Given the description of an element on the screen output the (x, y) to click on. 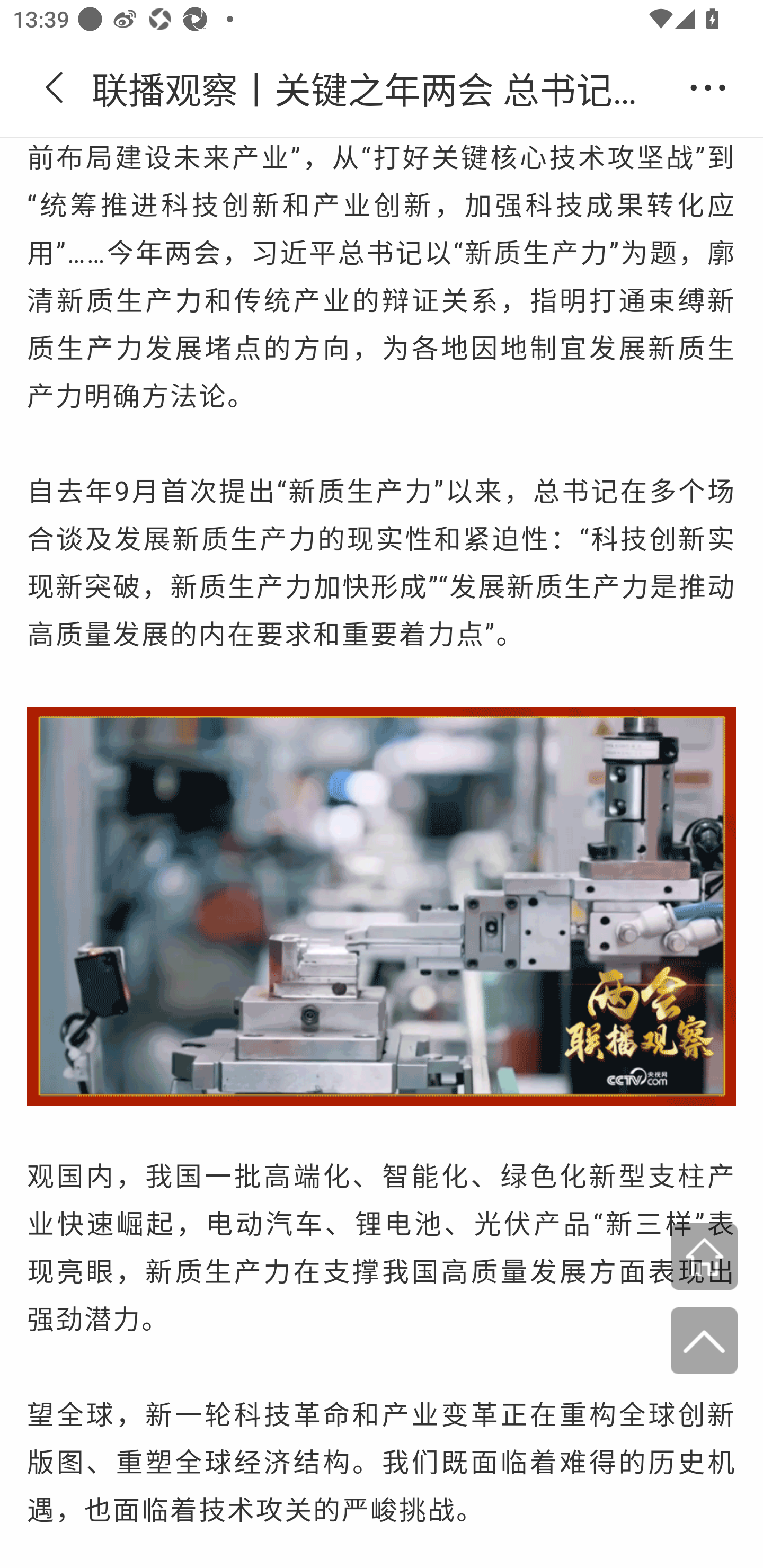
联播观察丨关键之年两会 总书记关注这三“新” (381, 87)
 返回 (54, 87)
 更多 (707, 87)
www.cctv (703, 1257)
